Given the description of an element on the screen output the (x, y) to click on. 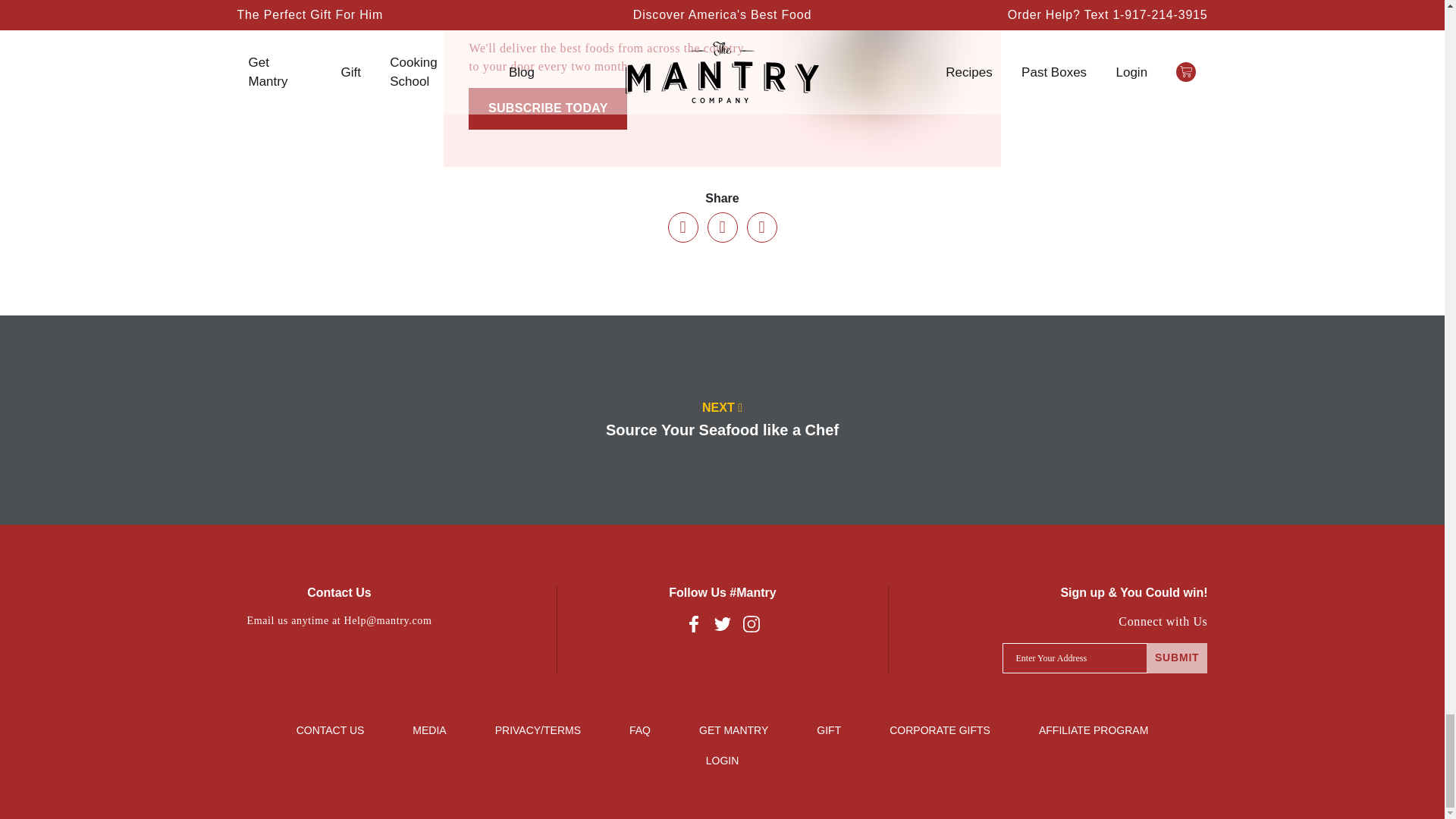
Subscribe To Mantry (722, 83)
Share on Facebook (681, 227)
Share on Pinterest (760, 227)
Share on Twitter (721, 227)
